Given the description of an element on the screen output the (x, y) to click on. 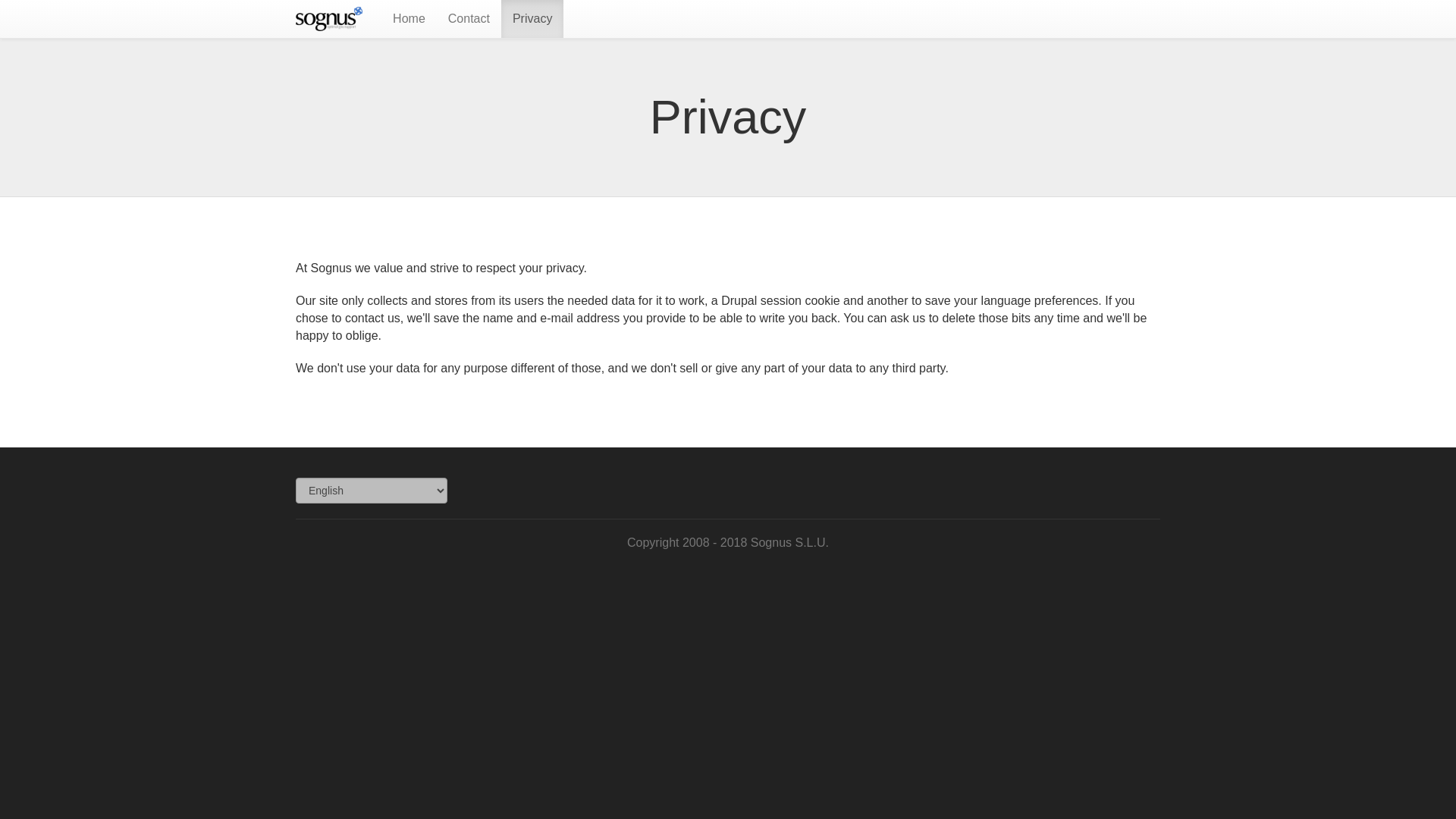
Home (408, 18)
More information (468, 18)
Contact (468, 18)
Privacy (531, 18)
Home (332, 18)
